Given the description of an element on the screen output the (x, y) to click on. 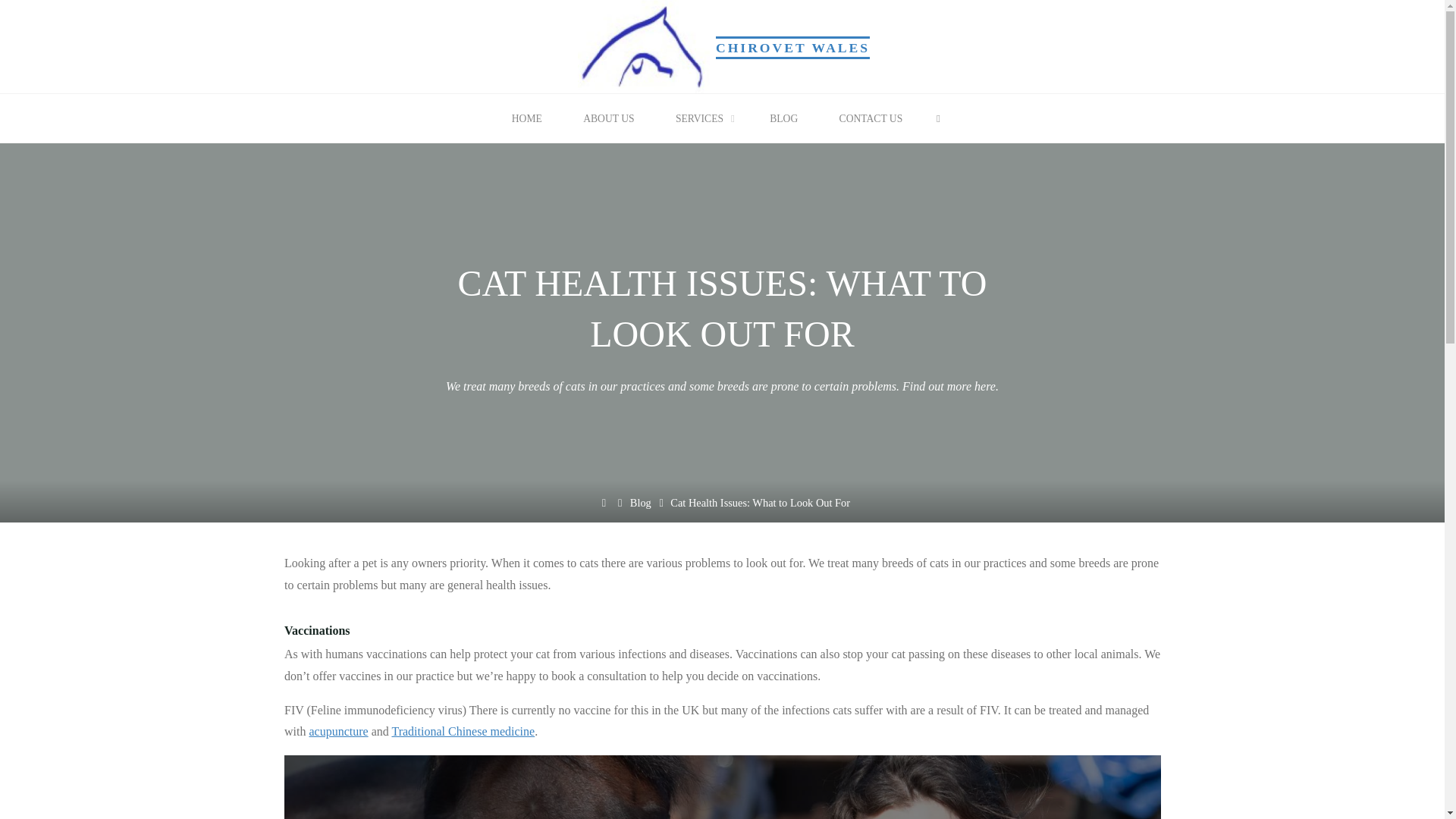
BLOG (783, 118)
SERVICES (702, 118)
ABOUT US (608, 118)
CHIROVET WALES (792, 47)
Chirovet Wales (642, 44)
Blog (640, 511)
CONTACT US (870, 118)
Home (603, 502)
HOME (527, 118)
Home (603, 512)
